Given the description of an element on the screen output the (x, y) to click on. 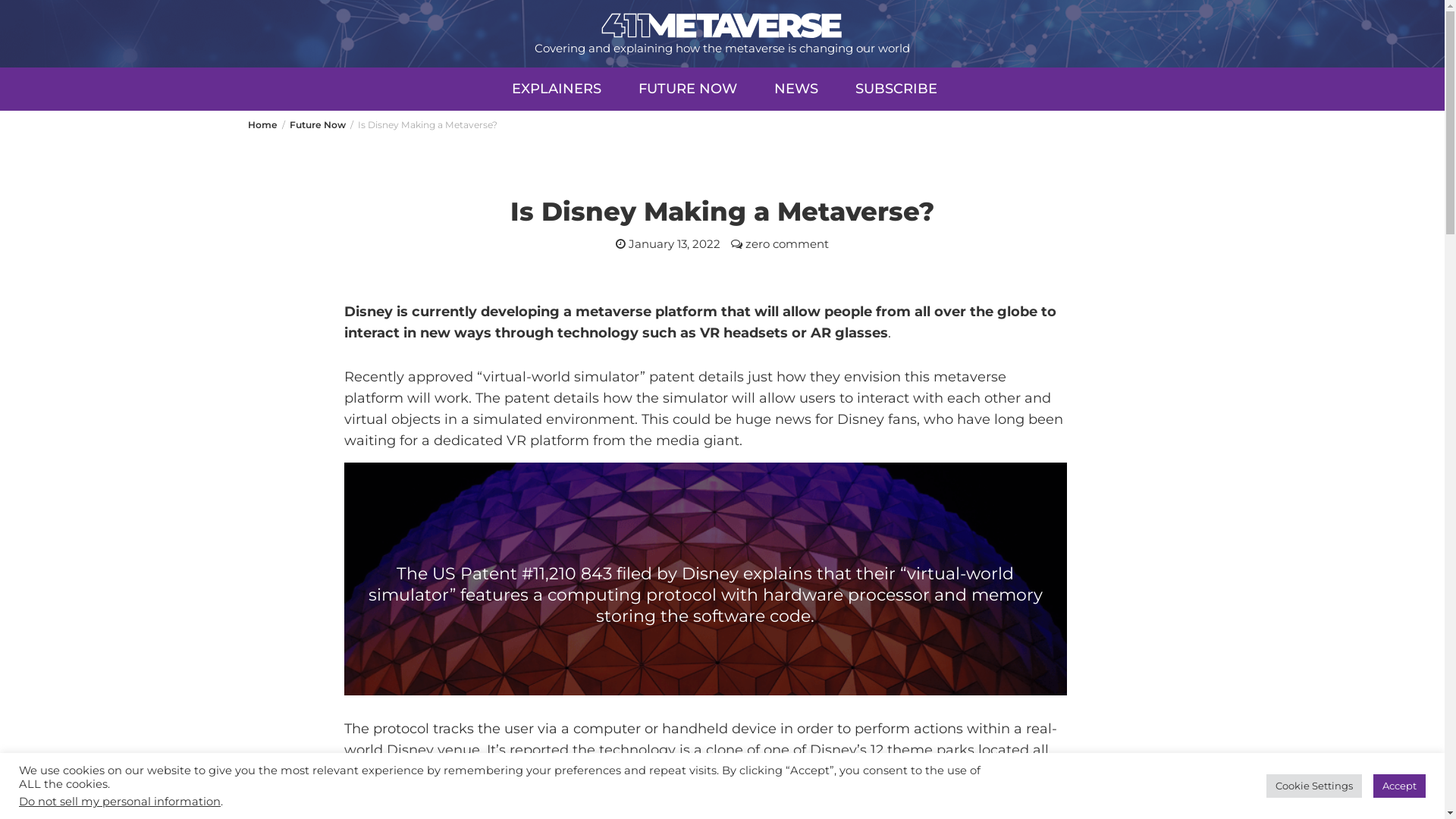
Home Element type: text (262, 124)
Future Now Element type: text (317, 124)
Accept Element type: text (1399, 785)
SUBSCRIBE Element type: text (896, 88)
EXPLAINERS Element type: text (555, 88)
FUTURE NOW Element type: text (687, 88)
Cookie Settings Element type: text (1313, 785)
zero comment Element type: text (786, 243)
Do not sell my personal information Element type: text (119, 801)
January 13, 2022 Element type: text (674, 243)
NEWS Element type: text (795, 88)
